Given the description of an element on the screen output the (x, y) to click on. 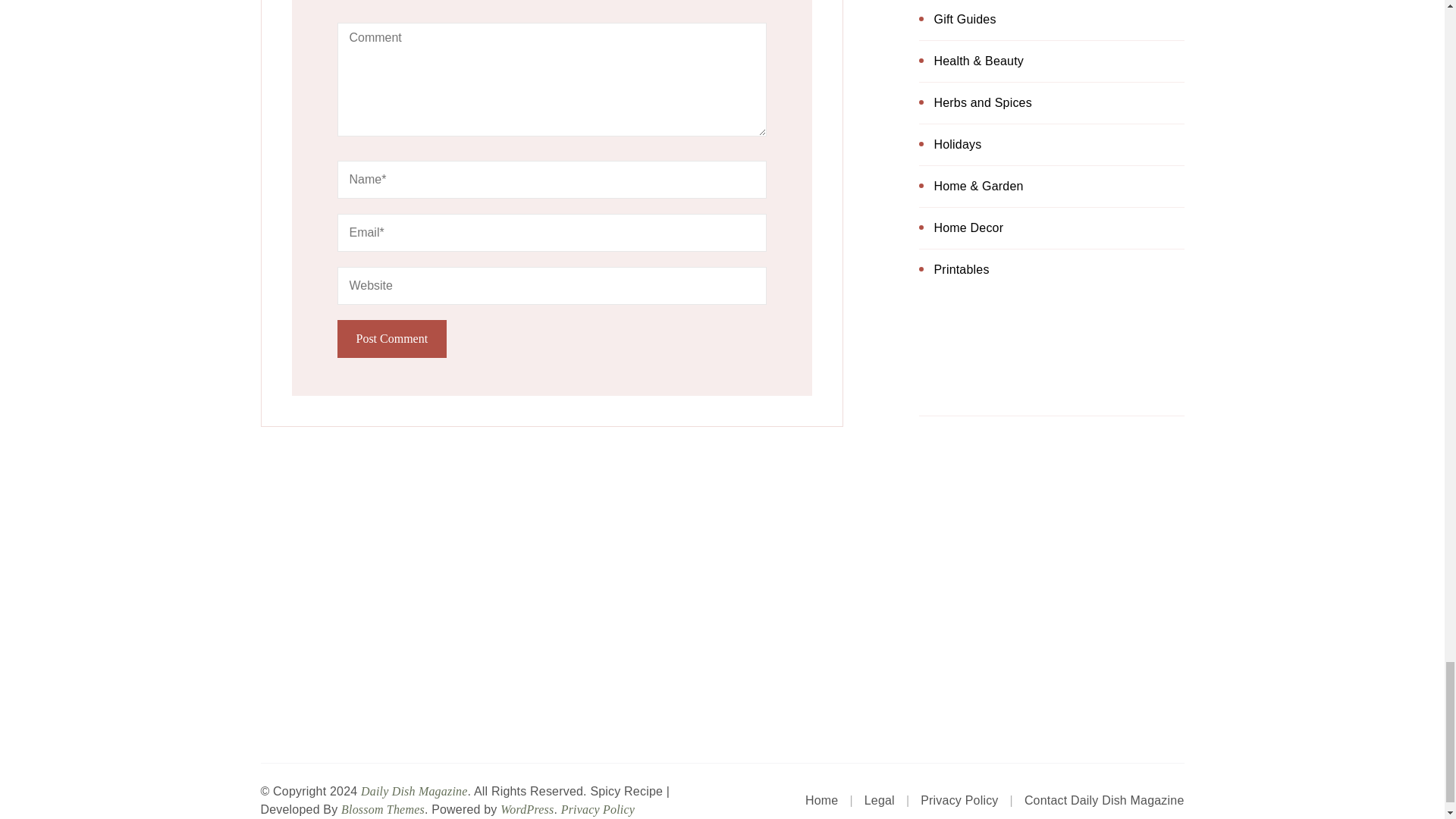
Post Comment (391, 338)
